Given the description of an element on the screen output the (x, y) to click on. 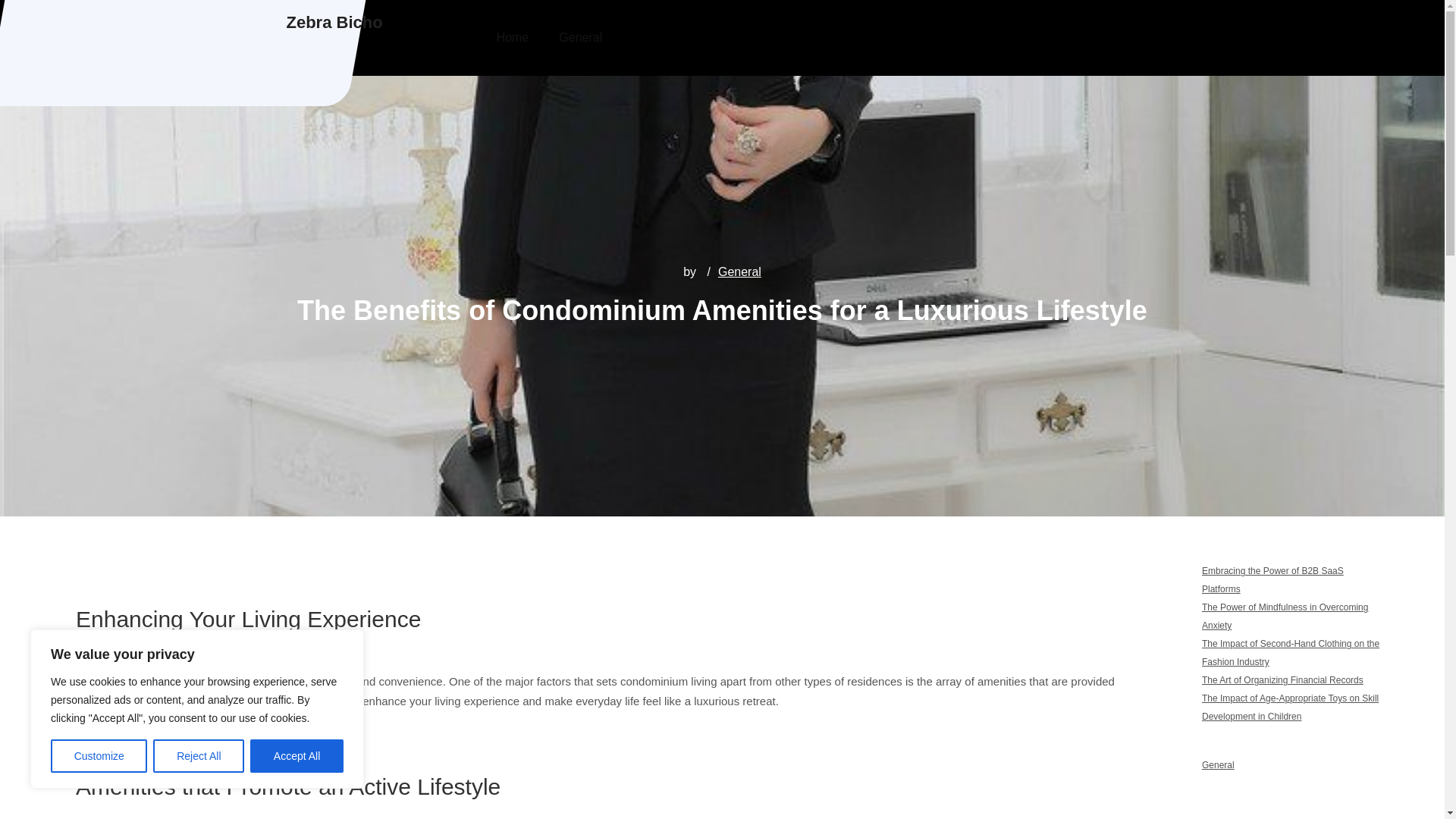
Reject All (198, 756)
The Power of Mindfulness in Overcoming Anxiety (1285, 615)
Zebra Bicho (334, 22)
General (1218, 765)
General (580, 38)
The Impact of Second-Hand Clothing on the Fashion Industry (1290, 652)
Accept All (296, 756)
Zebra Bicho (334, 22)
General (739, 271)
The Art of Organizing Financial Records (1282, 679)
